Given the description of an element on the screen output the (x, y) to click on. 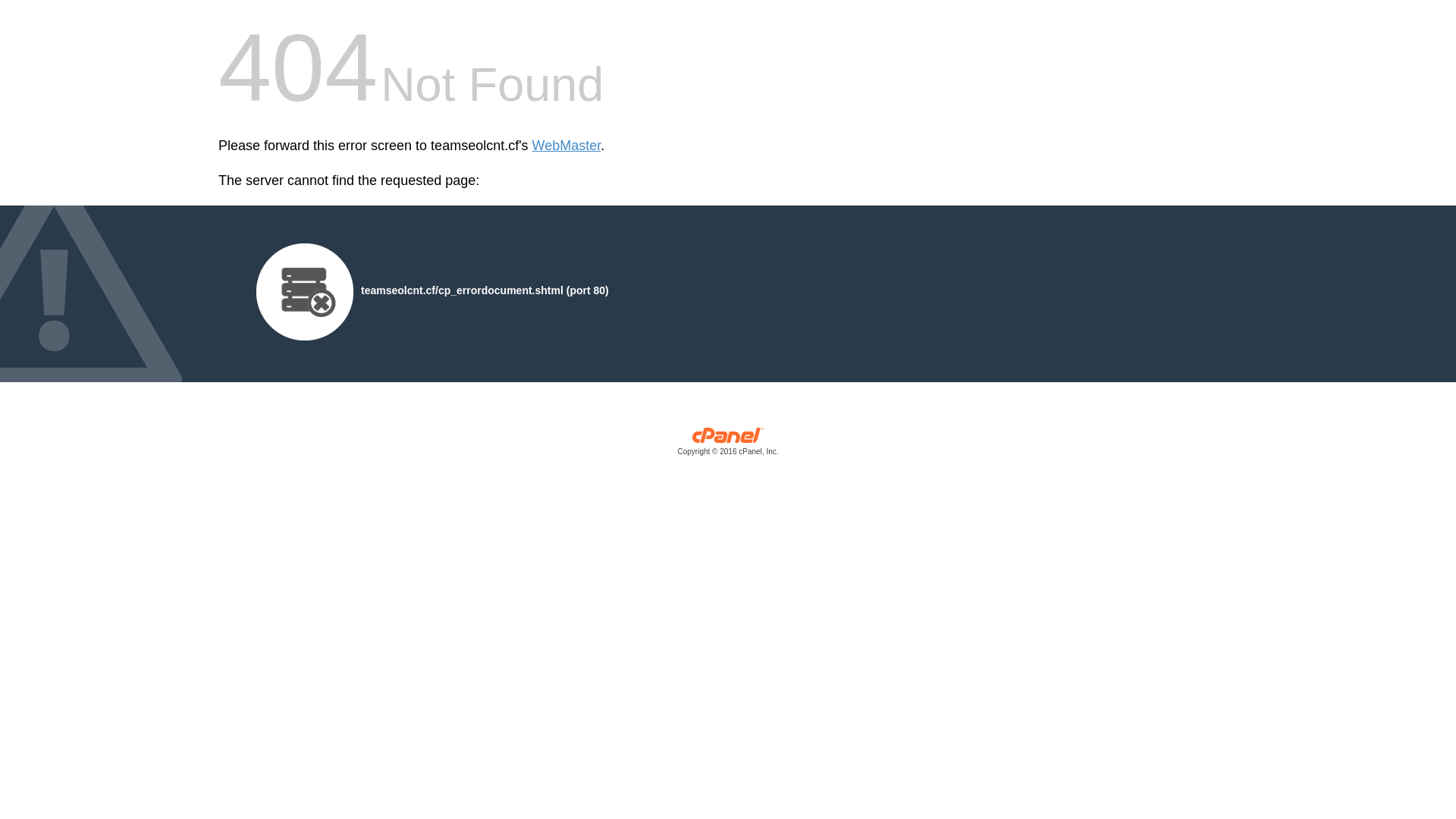
WebMaster Element type: text (566, 145)
